Given the description of an element on the screen output the (x, y) to click on. 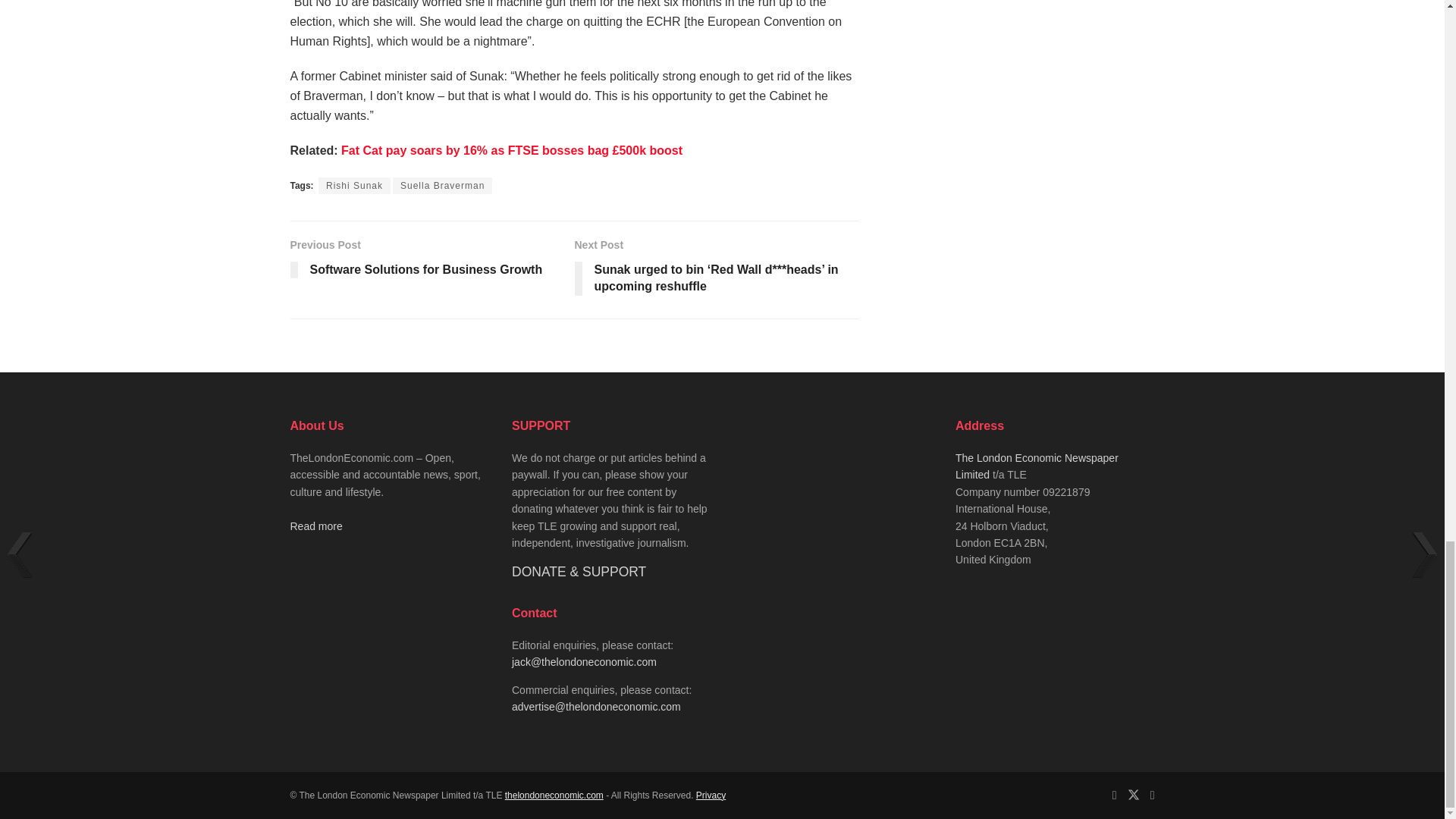
The London Economic (554, 794)
Privacy (710, 794)
